Given the description of an element on the screen output the (x, y) to click on. 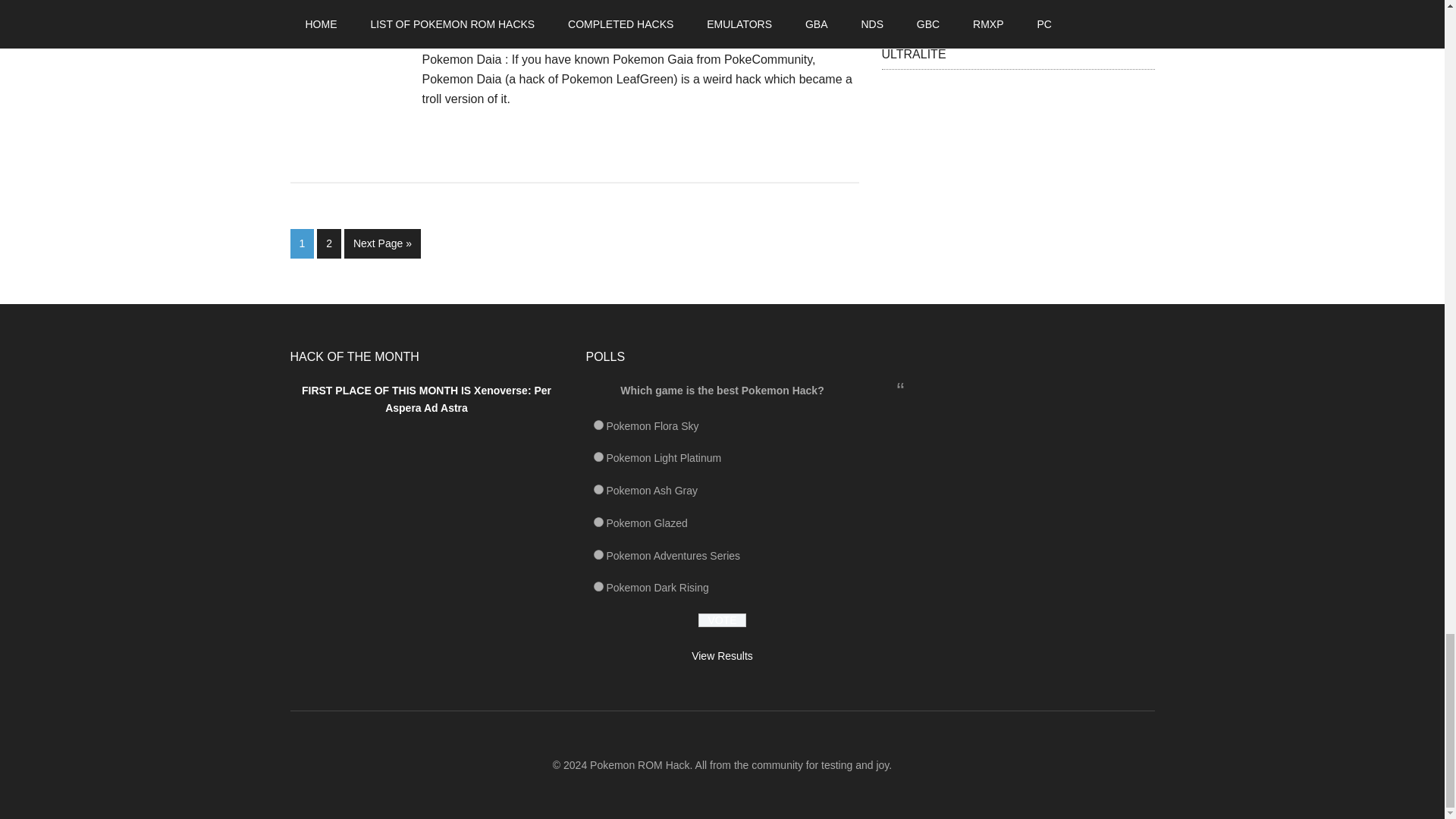
View Results Of This Poll (721, 655)
   Vote    (721, 620)
9 (597, 521)
Pokemon Hack of The Month (426, 466)
6 (597, 424)
11 (597, 554)
12 (597, 586)
8 (597, 489)
7 (597, 456)
